Given the description of an element on the screen output the (x, y) to click on. 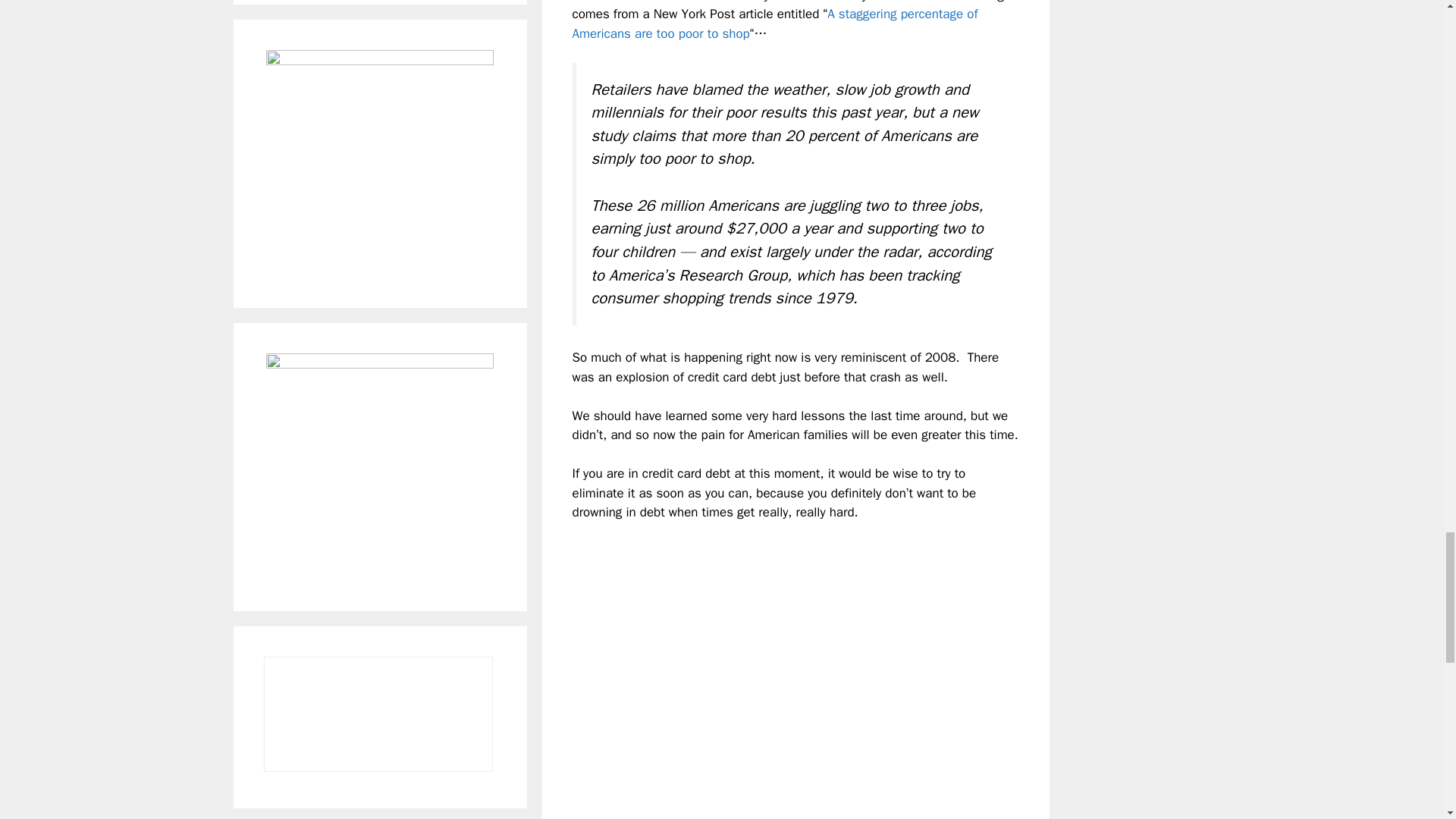
A staggering percentage of Americans are too poor to shop (774, 23)
